Given the description of an element on the screen output the (x, y) to click on. 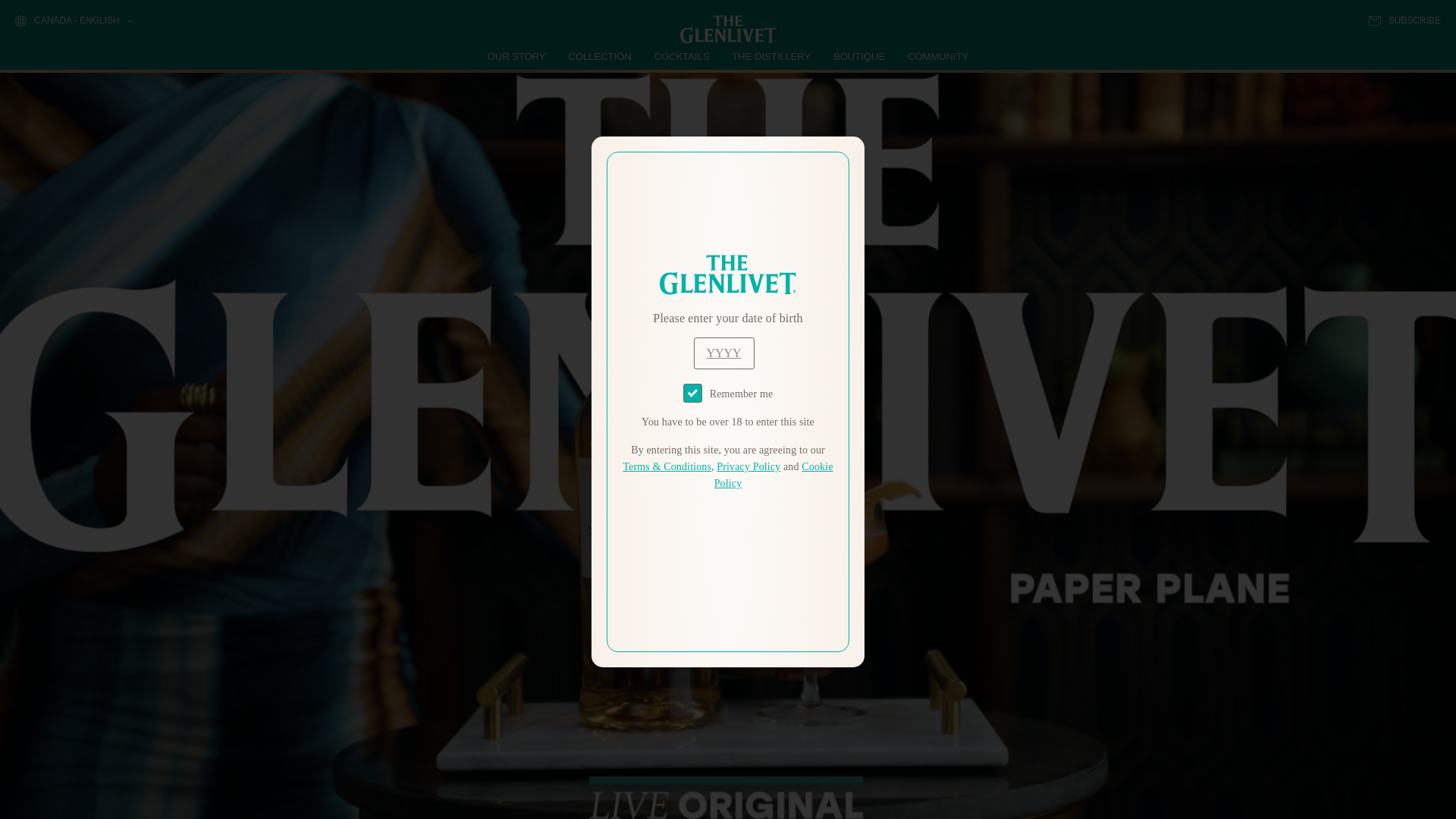
COLLECTION (600, 56)
COCKTAILS (681, 56)
OUR STORY (516, 56)
Cookie Policy (773, 474)
Privacy Policy (748, 466)
year (723, 353)
THE DISTILLERY (771, 56)
BOUTIQUE (858, 56)
CANADA - ENGLISH (73, 21)
SUBSCRIBE (1404, 20)
COMMUNITY (937, 56)
